Given the description of an element on the screen output the (x, y) to click on. 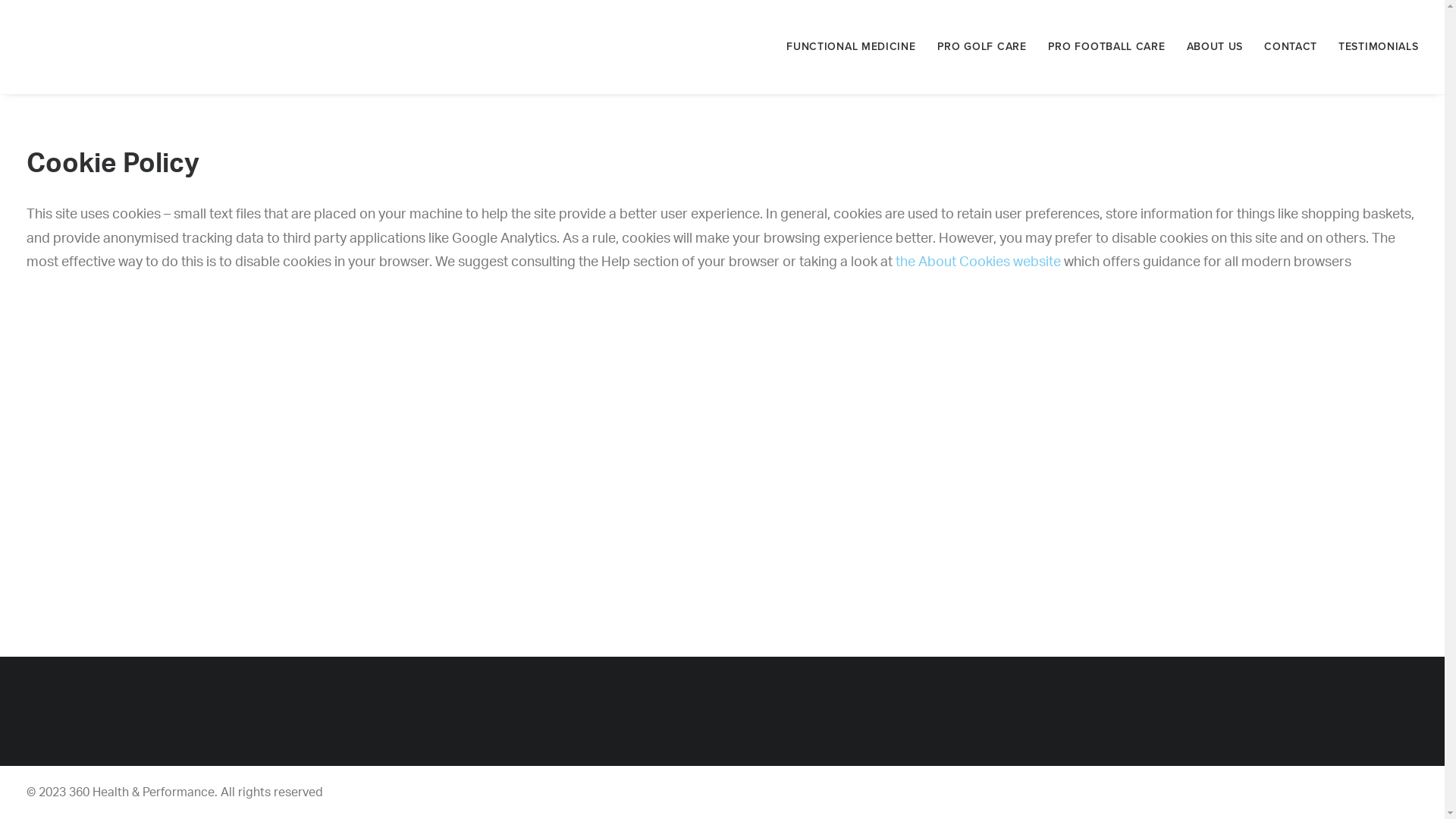
PRO GOLF CARE Element type: text (981, 47)
the About Cookies website Element type: text (977, 262)
TESTIMONIALS Element type: text (1372, 47)
FUNCTIONAL MEDICINE Element type: text (855, 47)
PRO FOOTBALL CARE Element type: text (1106, 47)
CONTACT Element type: text (1290, 47)
ABOUT US Element type: text (1215, 47)
